Given the description of an element on the screen output the (x, y) to click on. 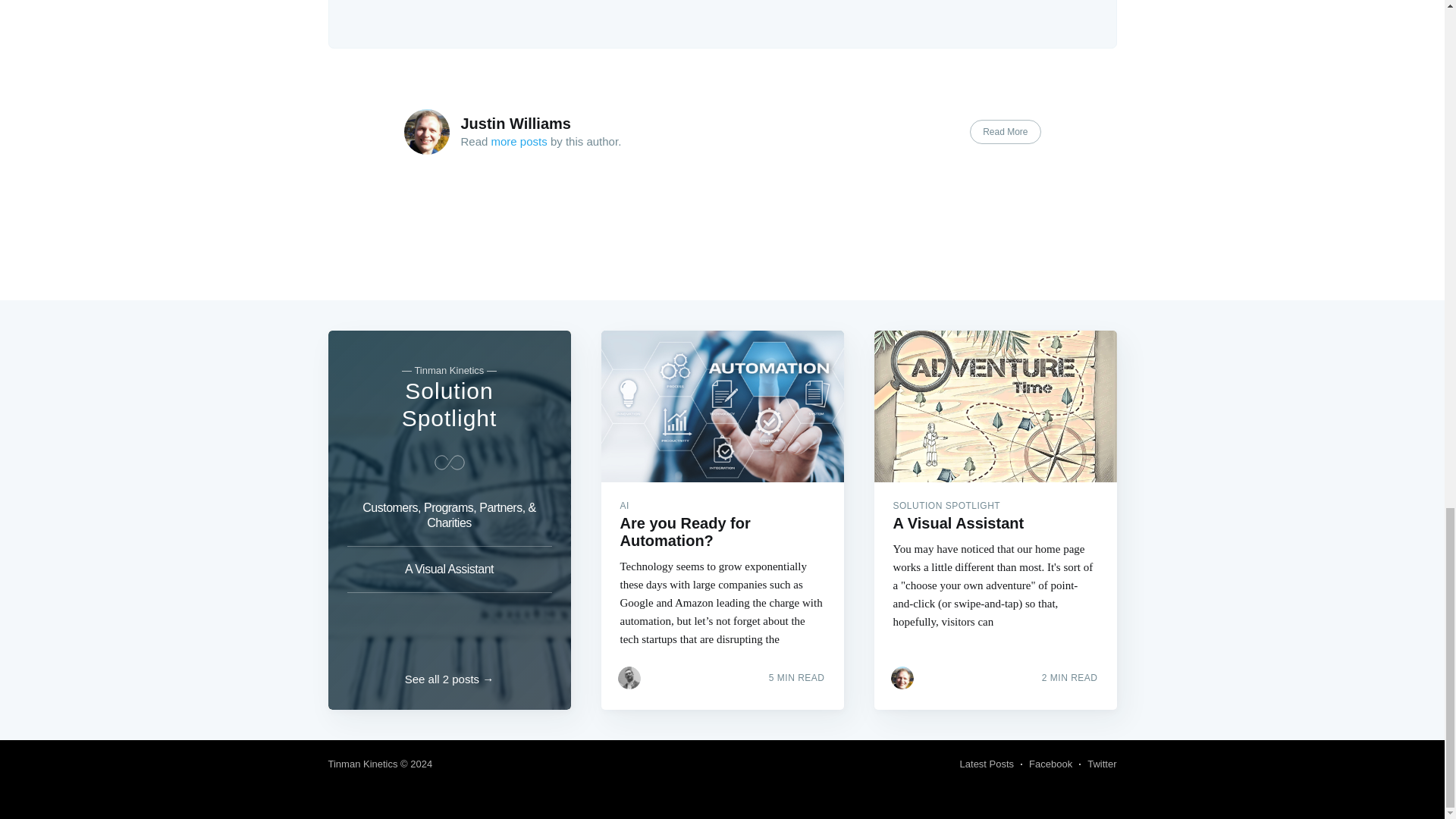
A Visual Assistant (449, 569)
Tinman Kinetics (362, 763)
more posts (519, 141)
Read More (1005, 131)
Facebook (1050, 764)
Justin Williams (515, 123)
Solution Spotlight (449, 404)
Twitter (1101, 764)
Latest Posts (986, 764)
